Given the description of an element on the screen output the (x, y) to click on. 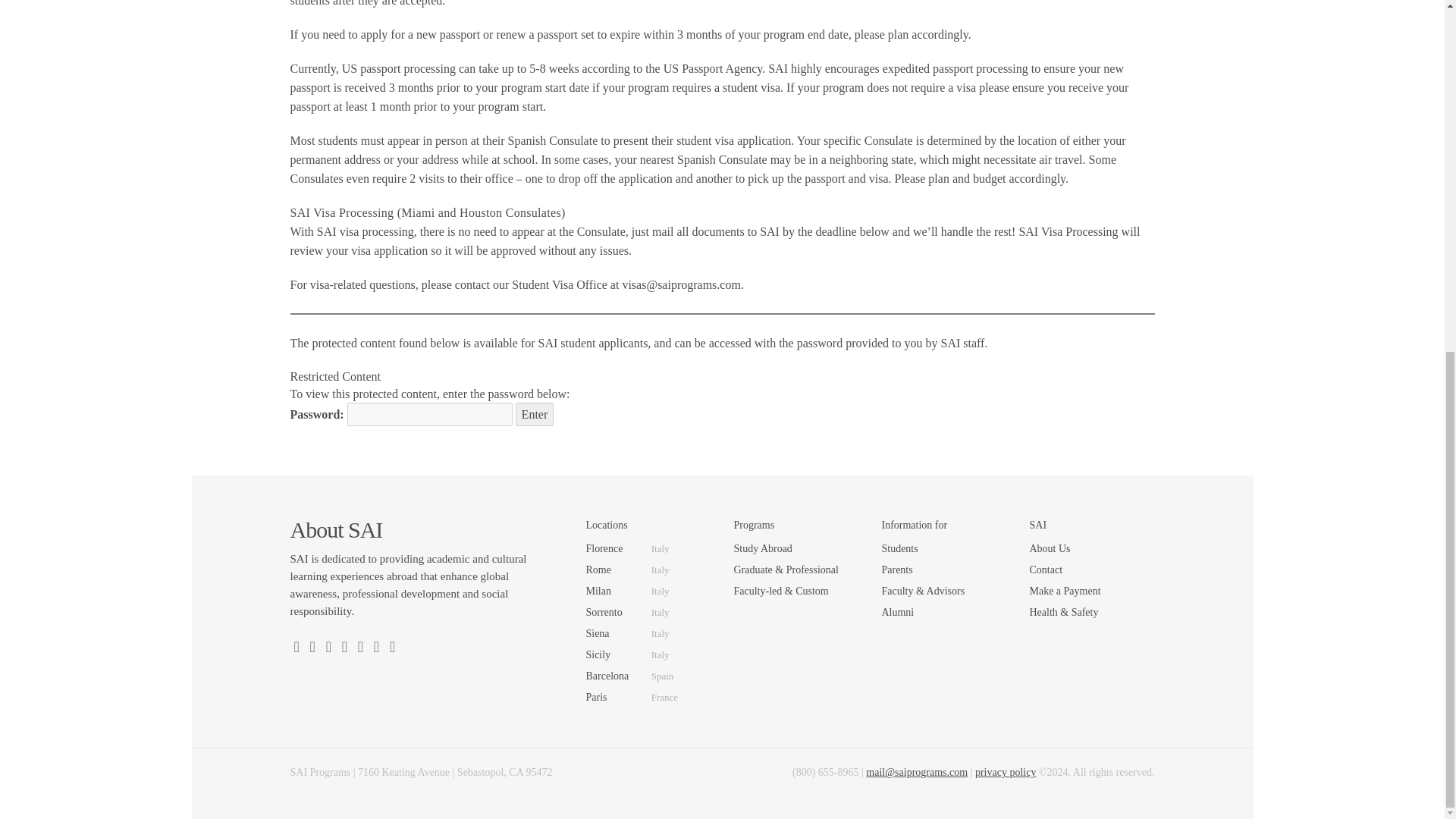
Enter (534, 413)
